Given the description of an element on the screen output the (x, y) to click on. 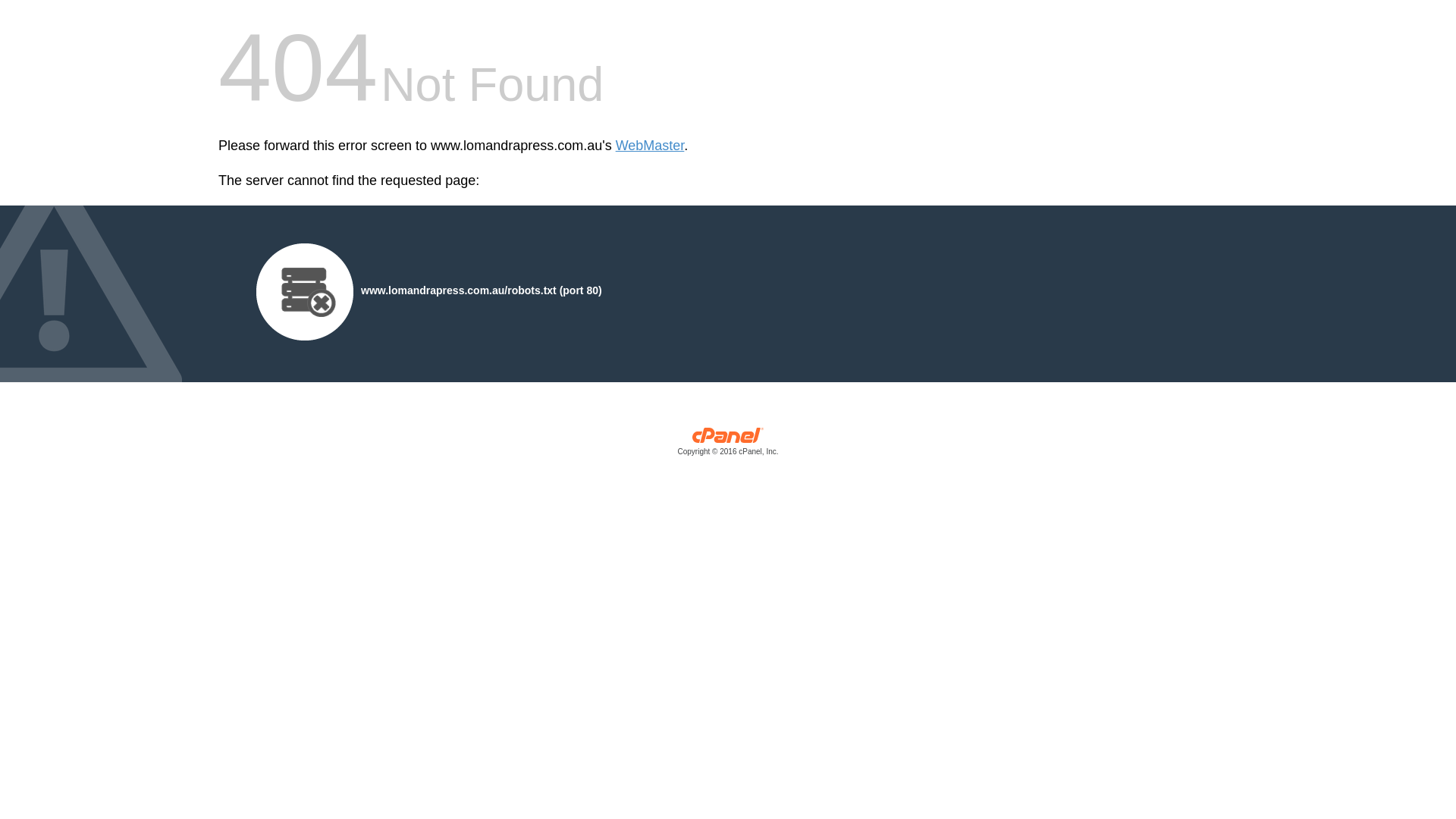
WebMaster Element type: text (649, 145)
